Given the description of an element on the screen output the (x, y) to click on. 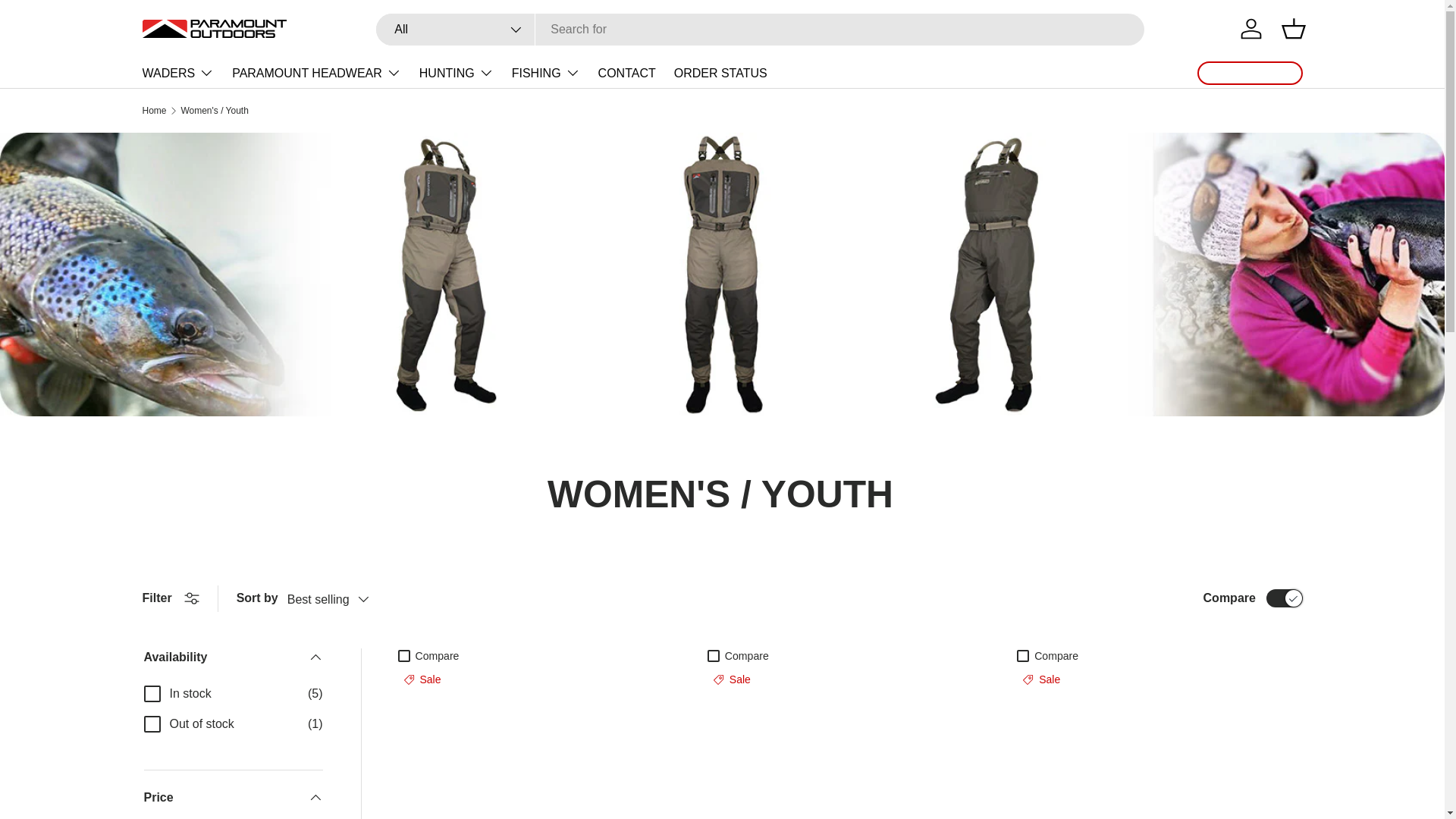
HUNTING (456, 72)
Contact Us (1249, 73)
Basket (1293, 28)
WADERS (178, 72)
All (455, 29)
PARAMOUNT HEADWEAR (316, 72)
SKIP TO CONTENT (69, 21)
FISHING (545, 72)
Log in (1251, 28)
CONTACT (627, 72)
